Given the description of an element on the screen output the (x, y) to click on. 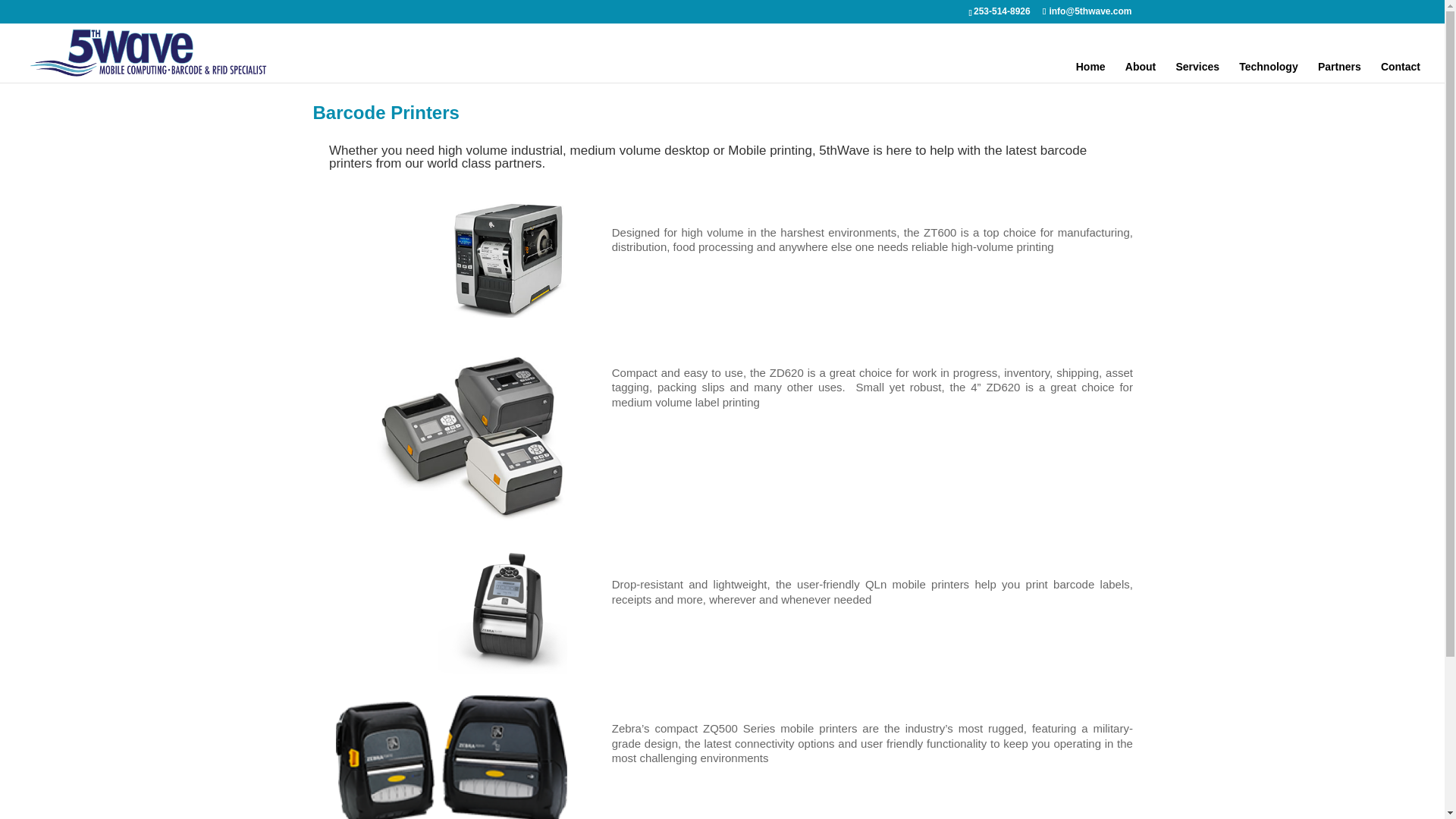
Contact (1400, 71)
Partners (1339, 71)
About (1140, 71)
Technology (1268, 71)
Home (1090, 71)
Services (1197, 71)
